Given the description of an element on the screen output the (x, y) to click on. 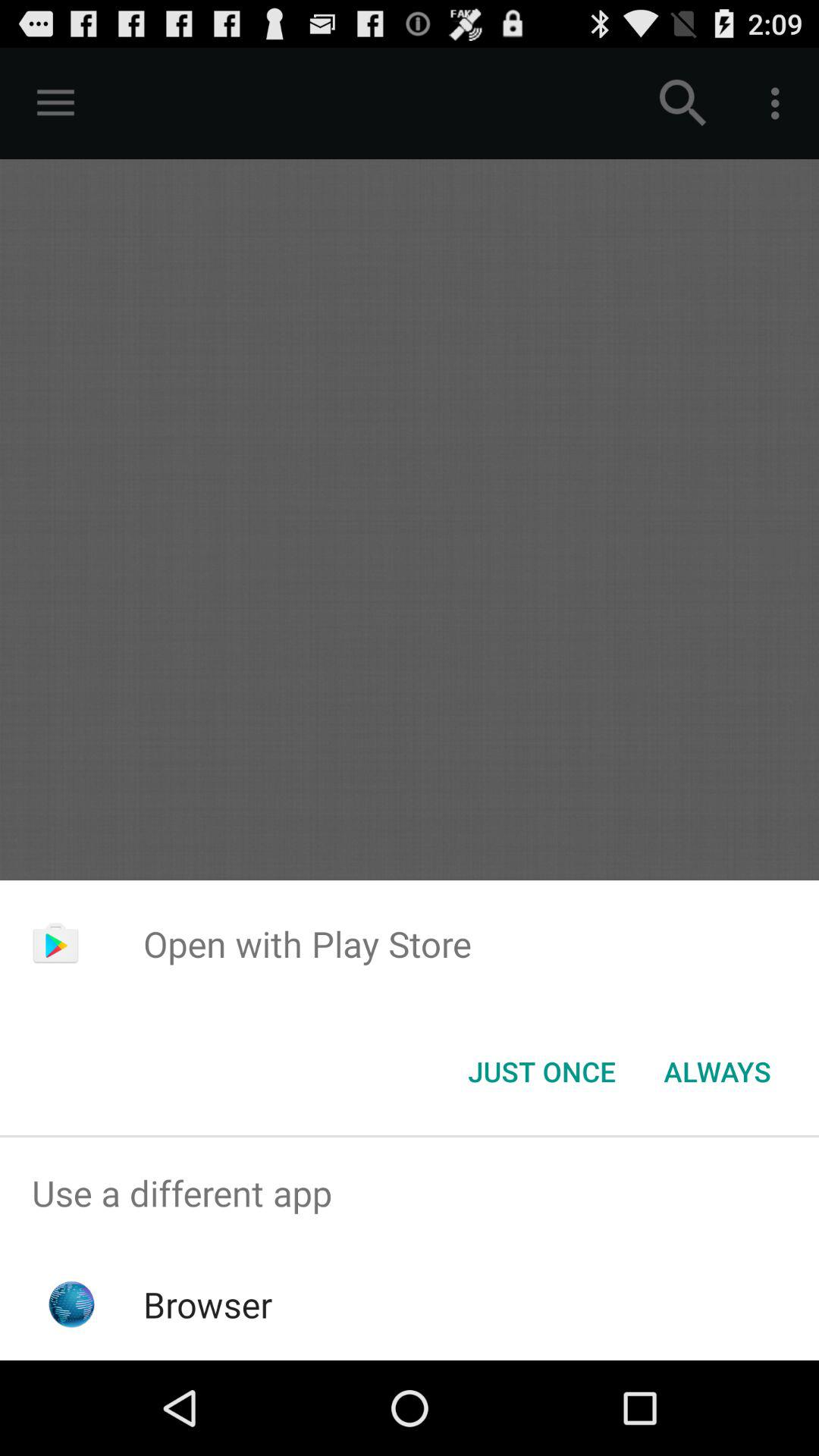
jump to the just once (541, 1071)
